Given the description of an element on the screen output the (x, y) to click on. 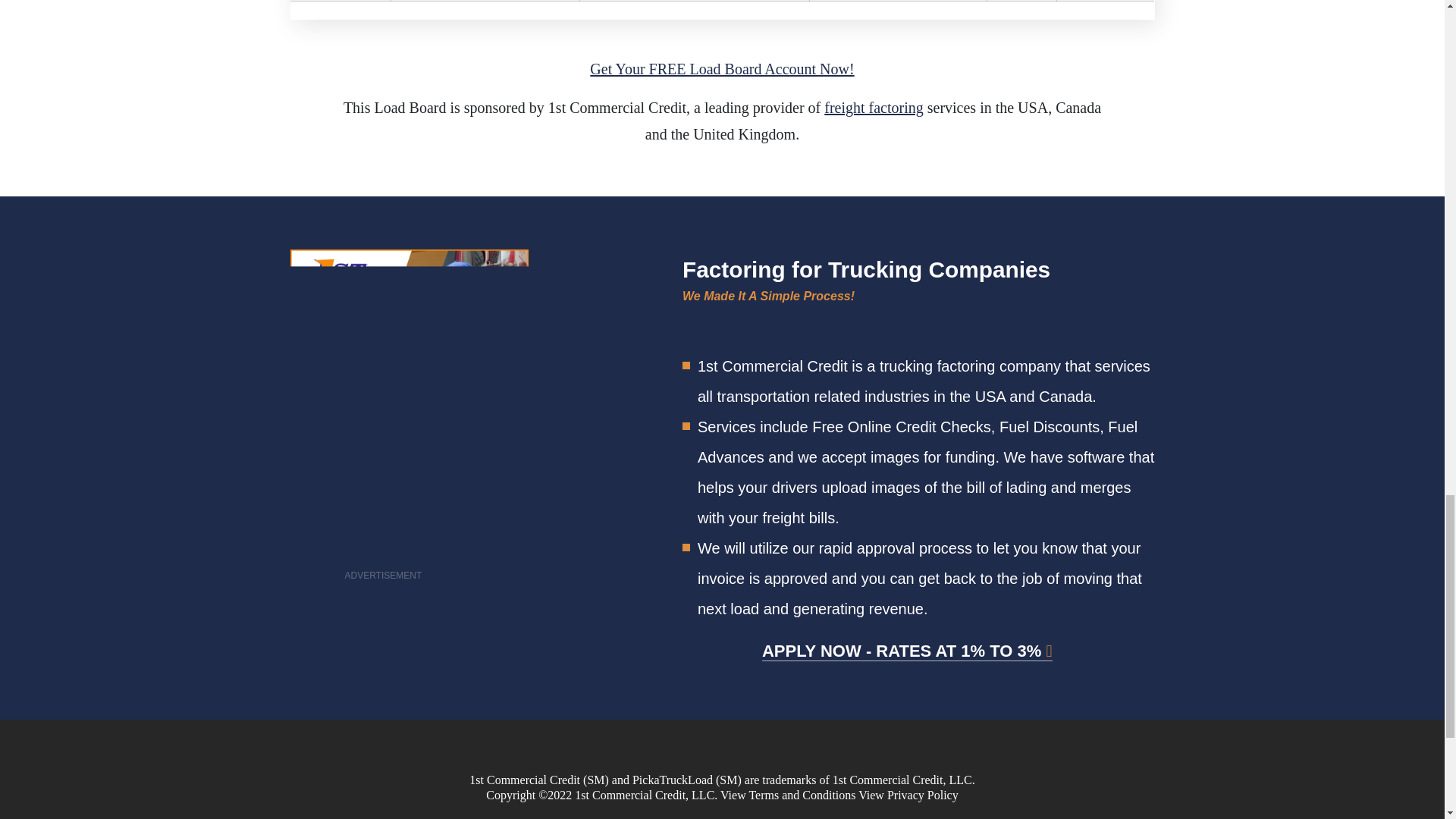
Get Your FREE Load Board Account Now! (721, 68)
Privacy Policy (922, 794)
freight factoring (873, 107)
Terms and Conditions (802, 794)
